Given the description of an element on the screen output the (x, y) to click on. 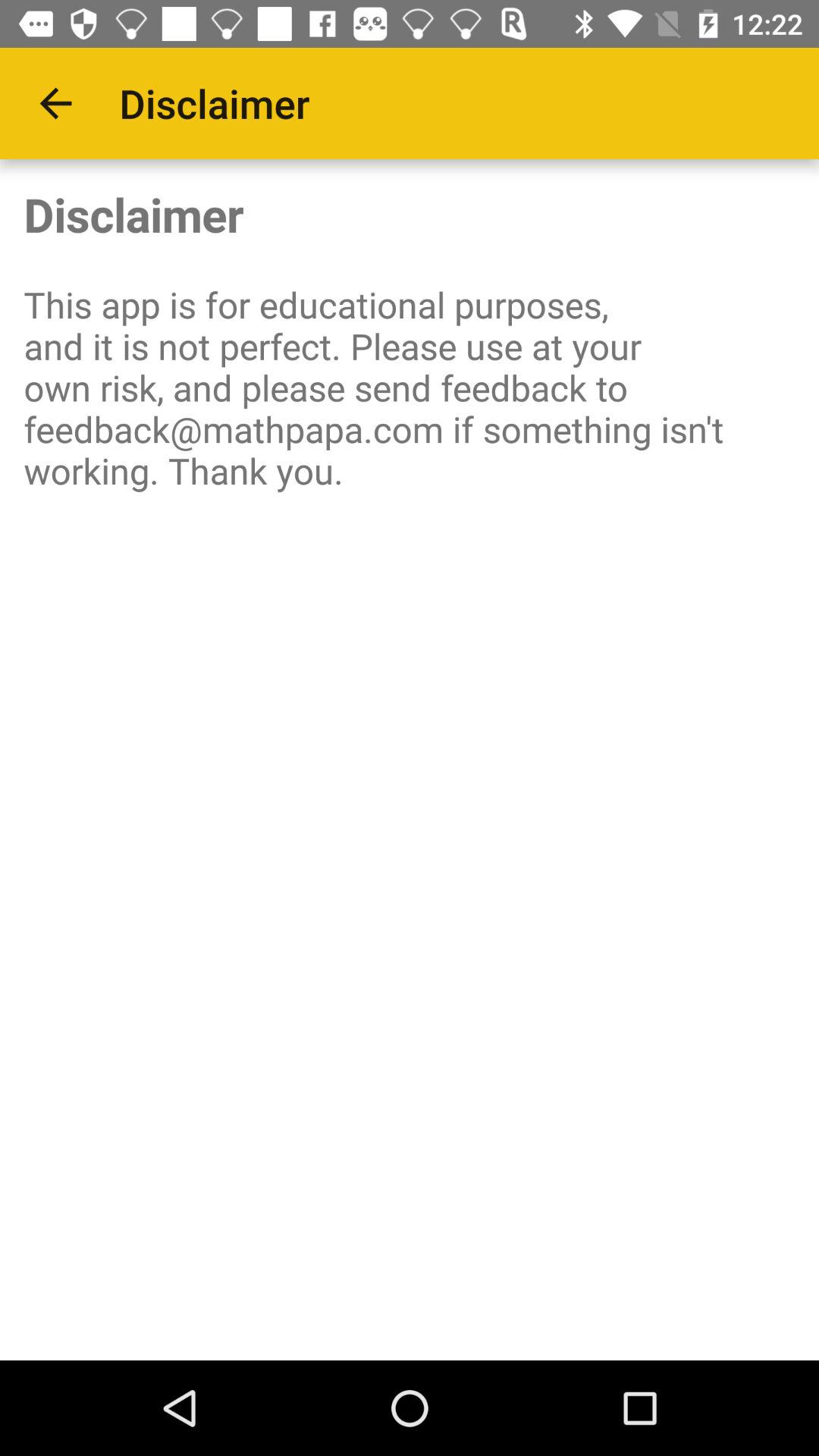
launch item above disclaimer this app (55, 103)
